Given the description of an element on the screen output the (x, y) to click on. 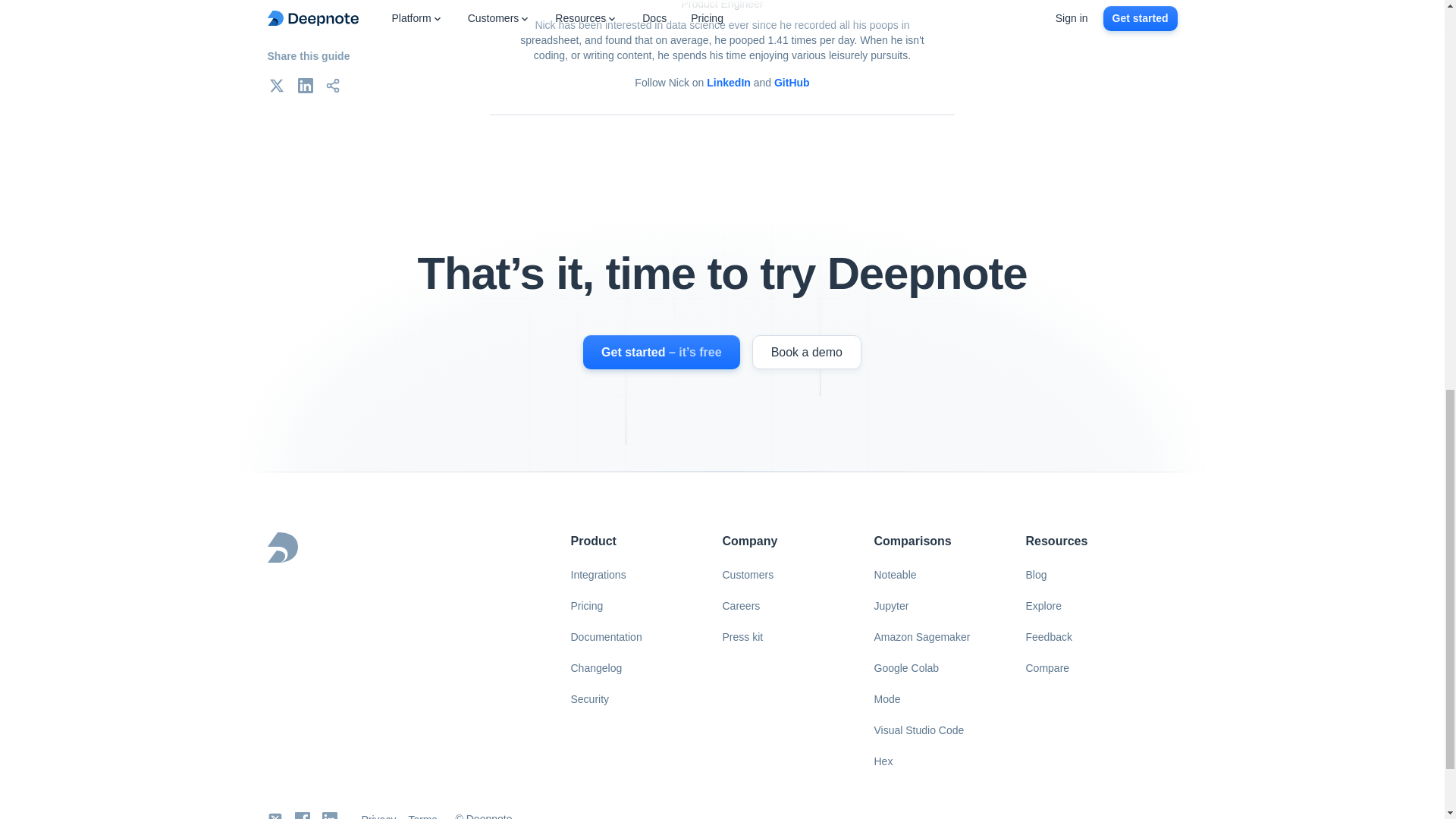
Hex (882, 761)
Google Colab (905, 667)
Amazon Sagemaker (921, 637)
Careers (740, 605)
Jupyter (890, 605)
Documentation (605, 637)
Explore (1043, 605)
Feedback (1048, 637)
LinkedIn (328, 816)
Noteable (894, 575)
Mode (886, 699)
Security (588, 699)
Pricing (585, 605)
Noteable (894, 575)
GitHub (791, 81)
